Given the description of an element on the screen output the (x, y) to click on. 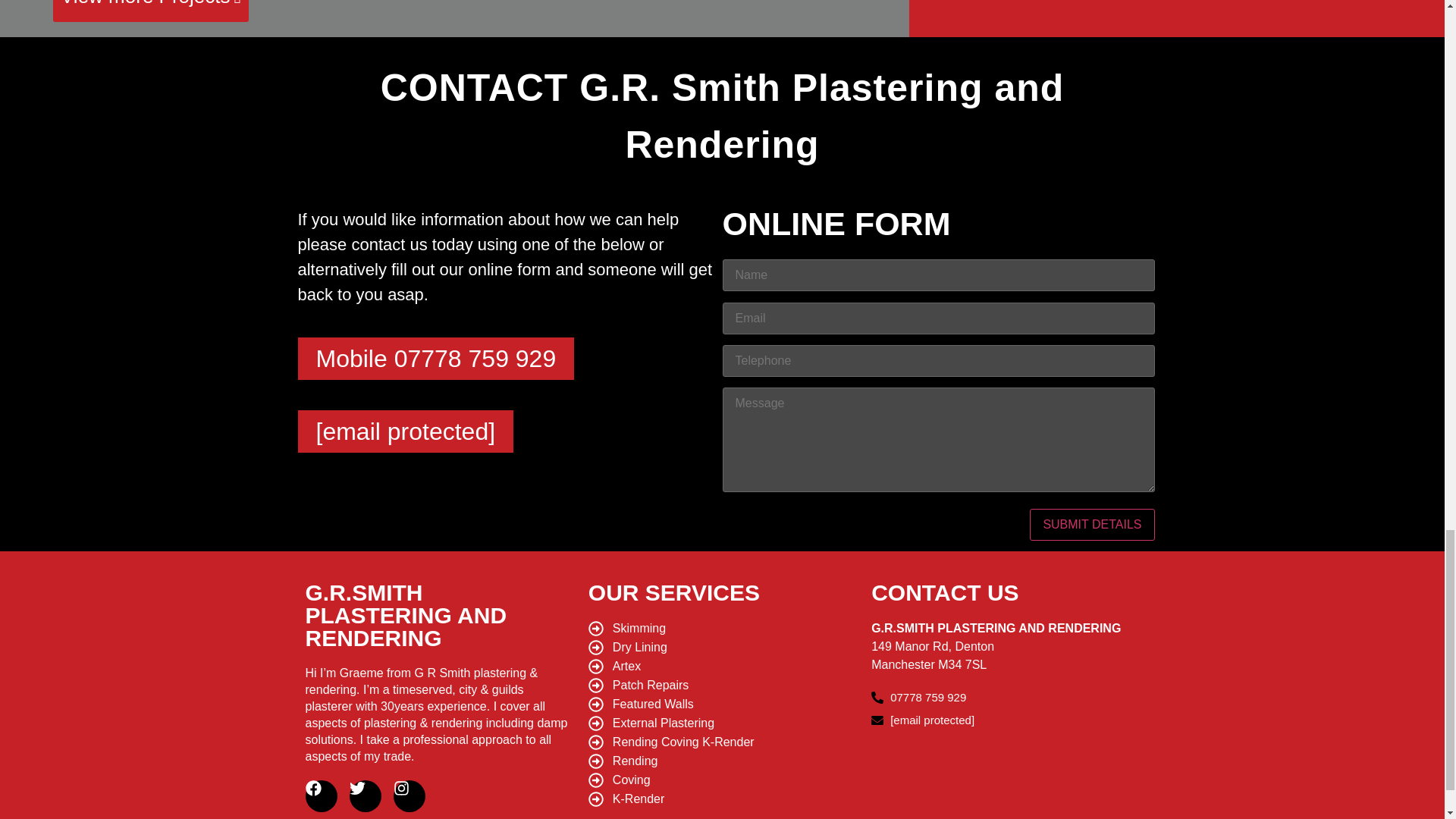
Submit Details (1091, 524)
View more Projects (150, 11)
Skimming (722, 628)
Dry Lining (722, 647)
Artex (722, 666)
Submit Details (1091, 524)
Mobile 07778 759 929 (435, 358)
